Given the description of an element on the screen output the (x, y) to click on. 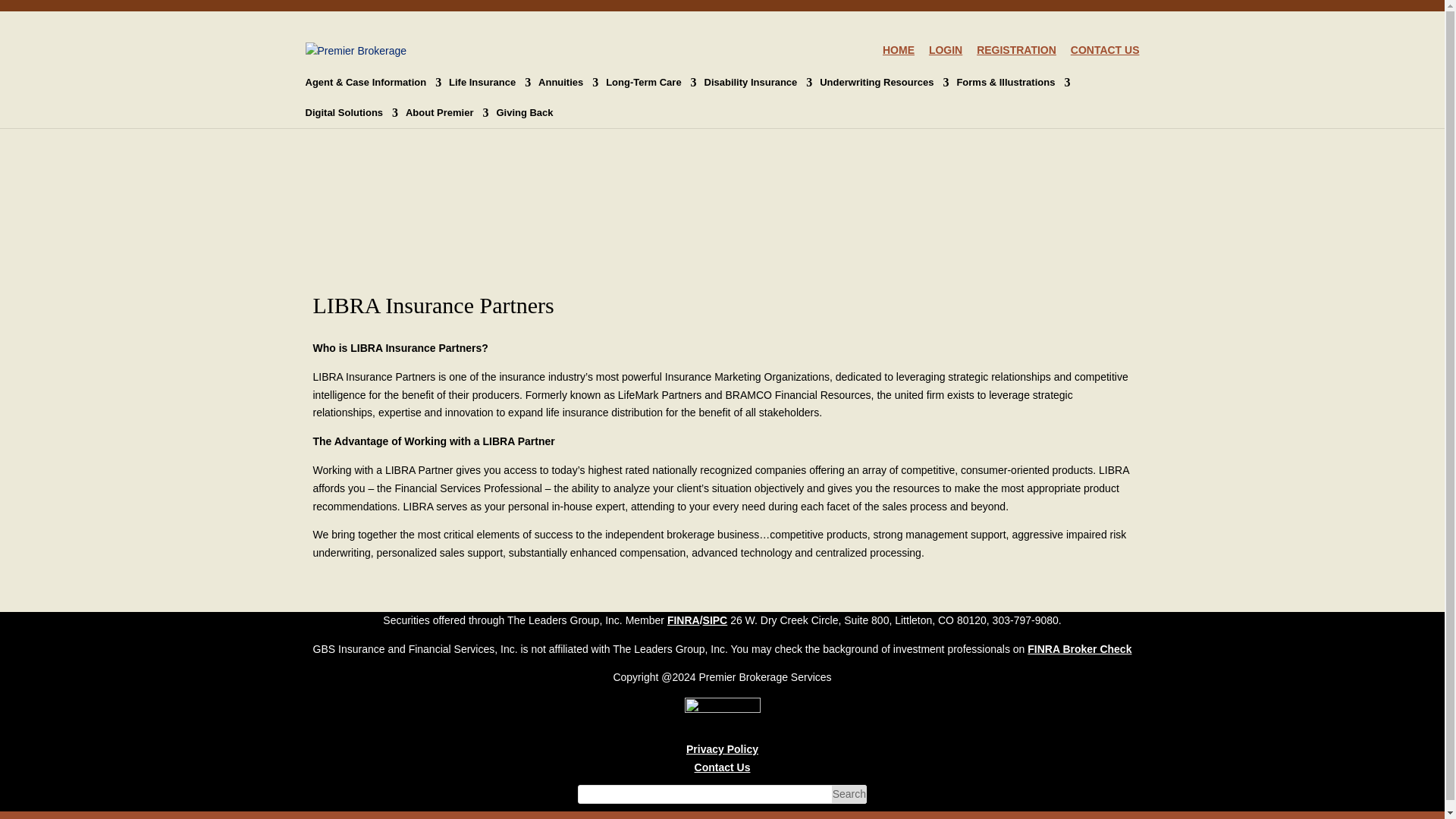
REGISTRATION (1016, 54)
Disability Insurance (757, 81)
Annuities (568, 81)
Digital Solutions (350, 112)
LOGIN (945, 54)
Search (848, 793)
CONTACT US (1105, 54)
Long-Term Care (650, 81)
Underwriting Resources (884, 81)
HOME (898, 54)
